Given the description of an element on the screen output the (x, y) to click on. 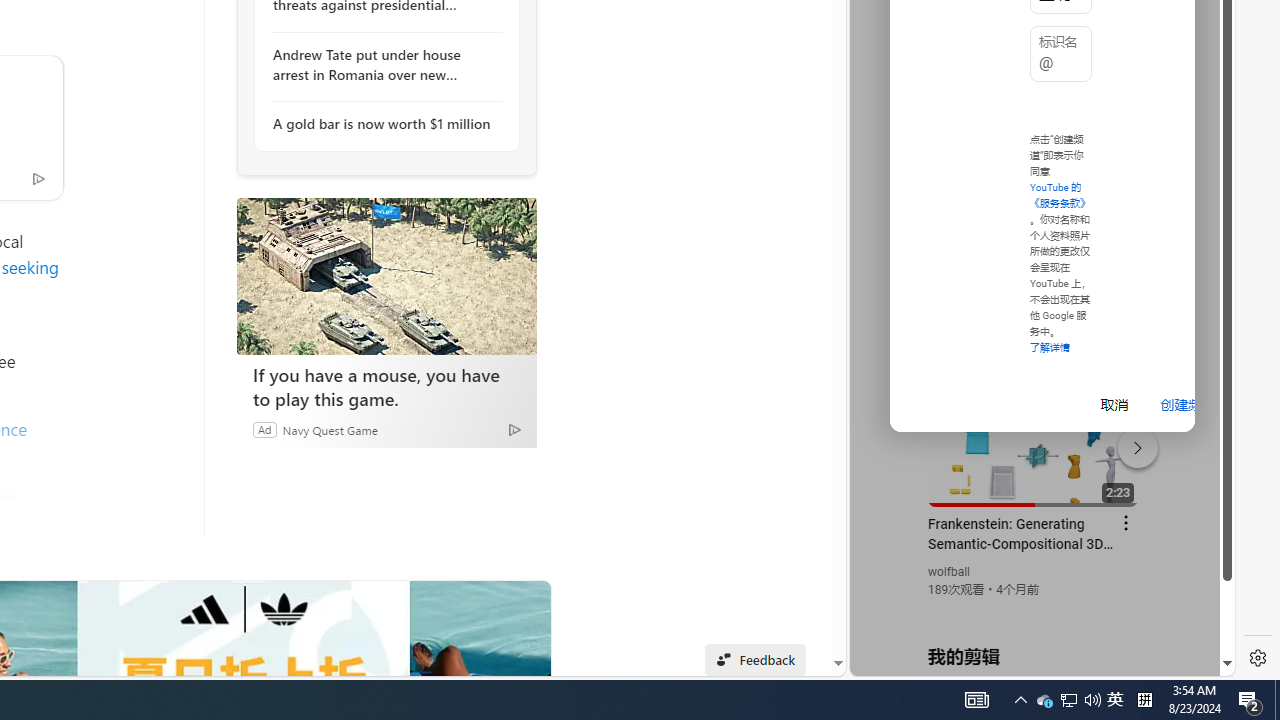
Class: dict_pnIcon rms_img (1028, 660)
If you have a mouse, you have to play this game. (386, 276)
YouTube - YouTube (1034, 266)
wolfball (949, 572)
you (1034, 609)
